Given the description of an element on the screen output the (x, y) to click on. 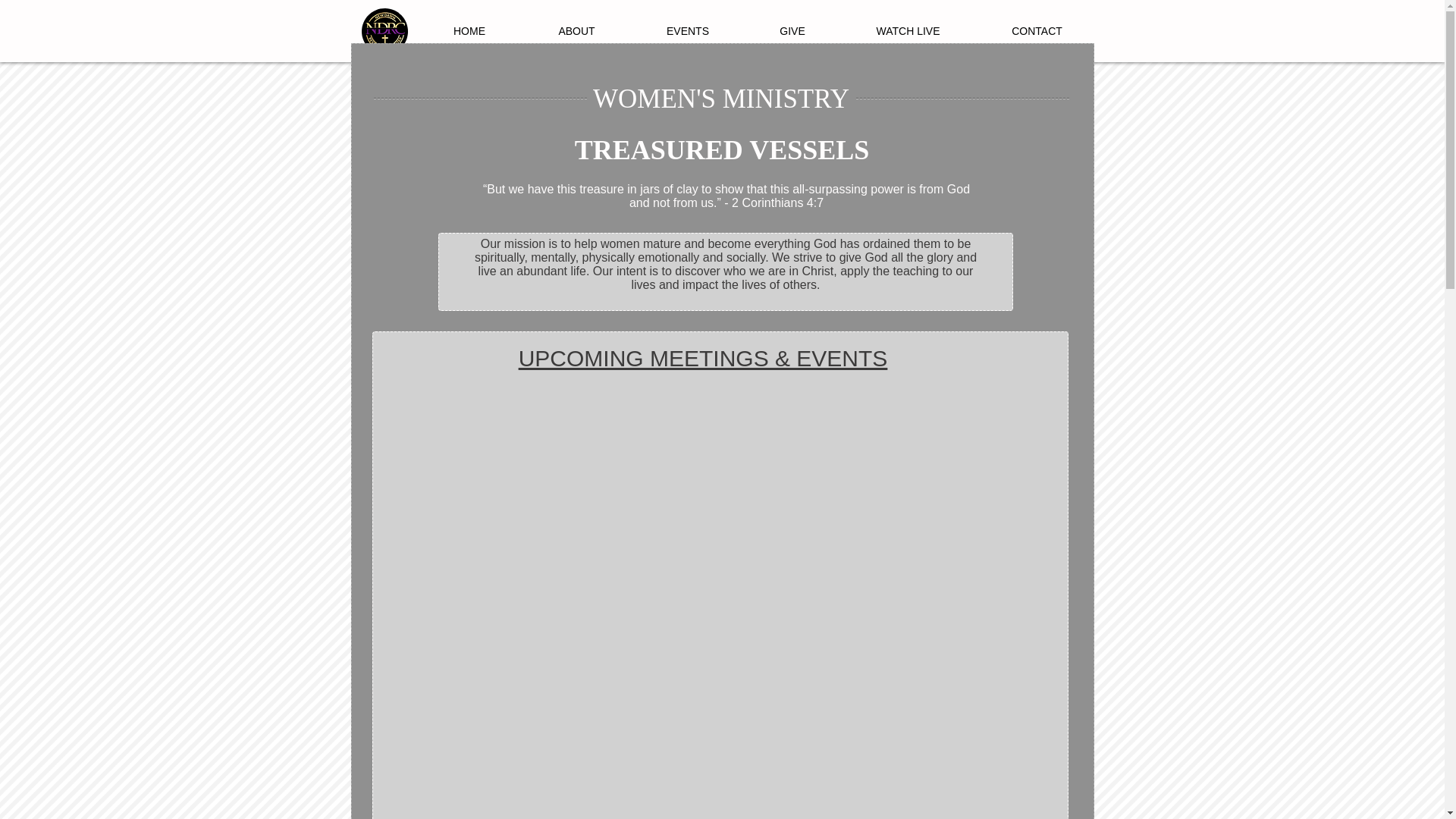
ABOUT (575, 30)
HOME (469, 30)
WATCH LIVE (907, 30)
EVENTS (687, 30)
CONTACT (1036, 30)
GIVE (792, 30)
